Given the description of an element on the screen output the (x, y) to click on. 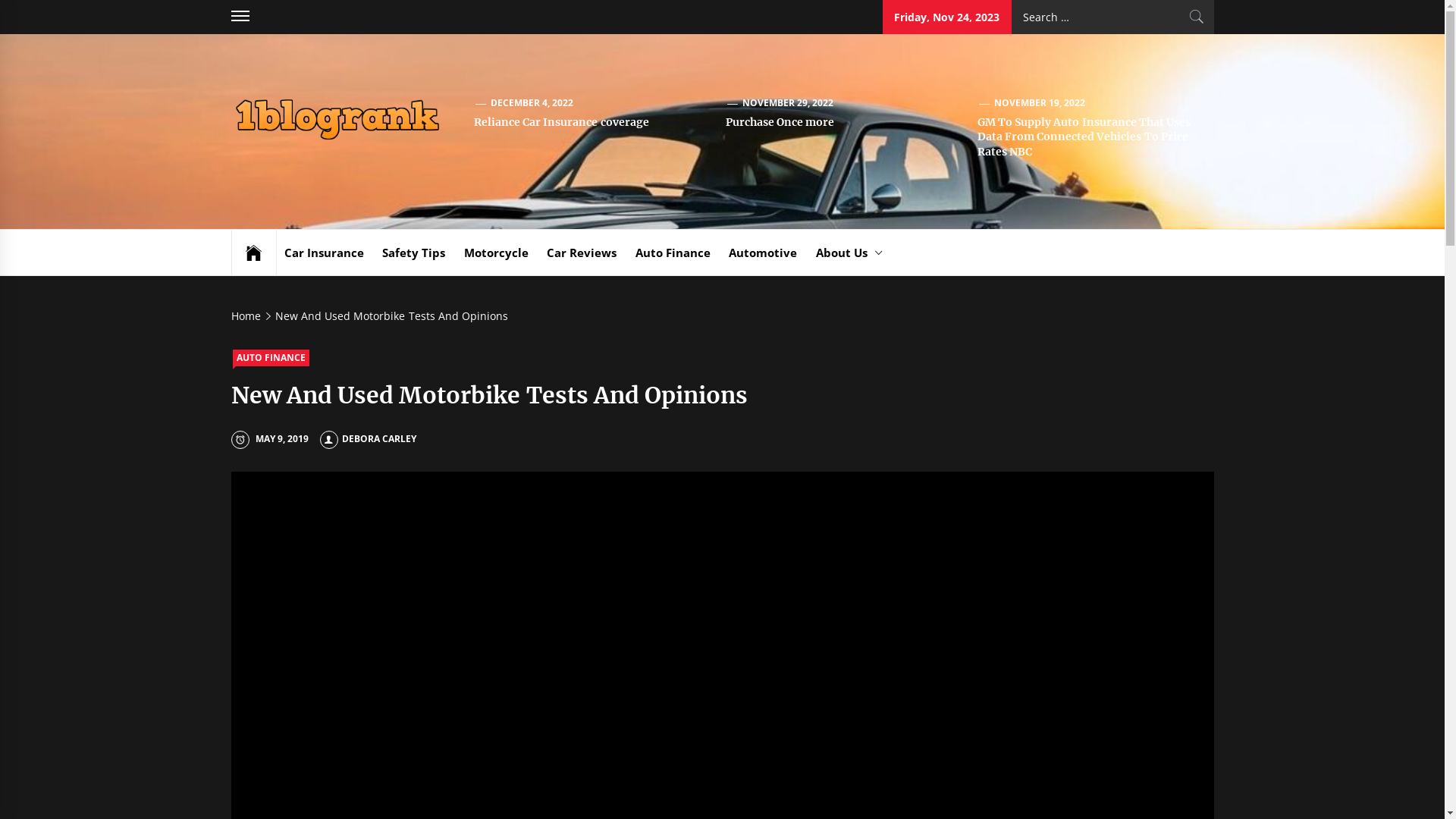
MAY 9, 2019 Element type: text (269, 438)
Reliance Car Insurance coverage Element type: text (561, 121)
Safety Tips Element type: text (413, 252)
AUTO FINANCE Element type: text (270, 357)
Purchase Once more Element type: text (779, 121)
DEBORA CARLEY Element type: text (368, 438)
Car Reviews Element type: text (581, 252)
NOVEMBER 29, 2022 Element type: text (788, 102)
DECEMBER 4, 2022 Element type: text (532, 102)
Home Element type: text (247, 315)
Automotive Element type: text (762, 252)
Search Element type: text (1196, 17)
Auto Finance Element type: text (672, 252)
1 blogrank Element type: text (513, 131)
New And Used Motorbike Tests And Opinions Element type: text (389, 315)
Motorcycle Element type: text (496, 252)
About Us Element type: text (848, 252)
NOVEMBER 19, 2022 Element type: text (1039, 102)
Car Insurance Element type: text (323, 252)
